Given the description of an element on the screen output the (x, y) to click on. 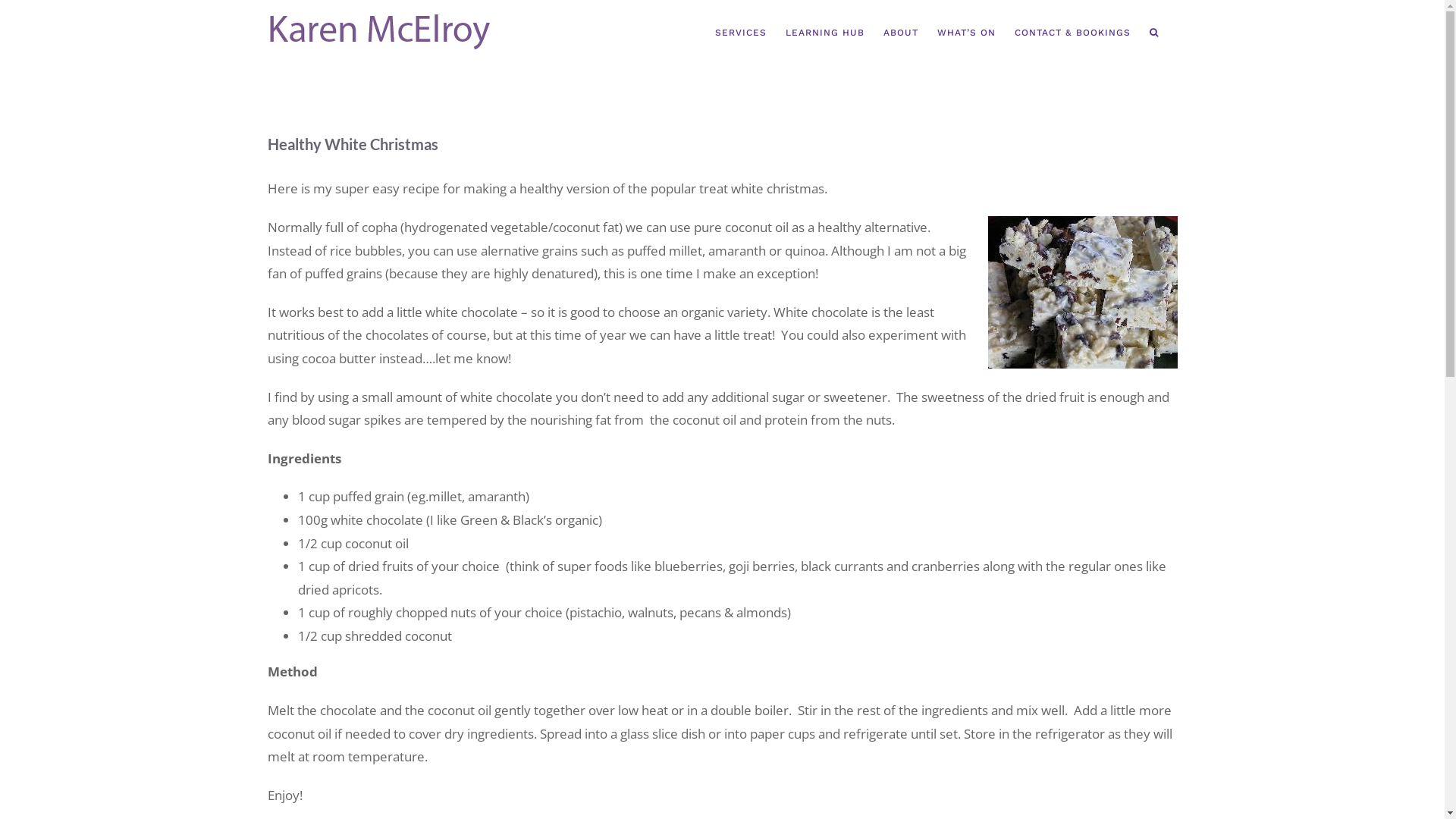
ABOUT Element type: text (899, 32)
white christmas Element type: hover (1081, 292)
LEARNING HUB Element type: text (824, 32)
Search Element type: hover (1153, 32)
SERVICES Element type: text (739, 32)
CONTACT & BOOKINGS Element type: text (1072, 32)
